Given the description of an element on the screen output the (x, y) to click on. 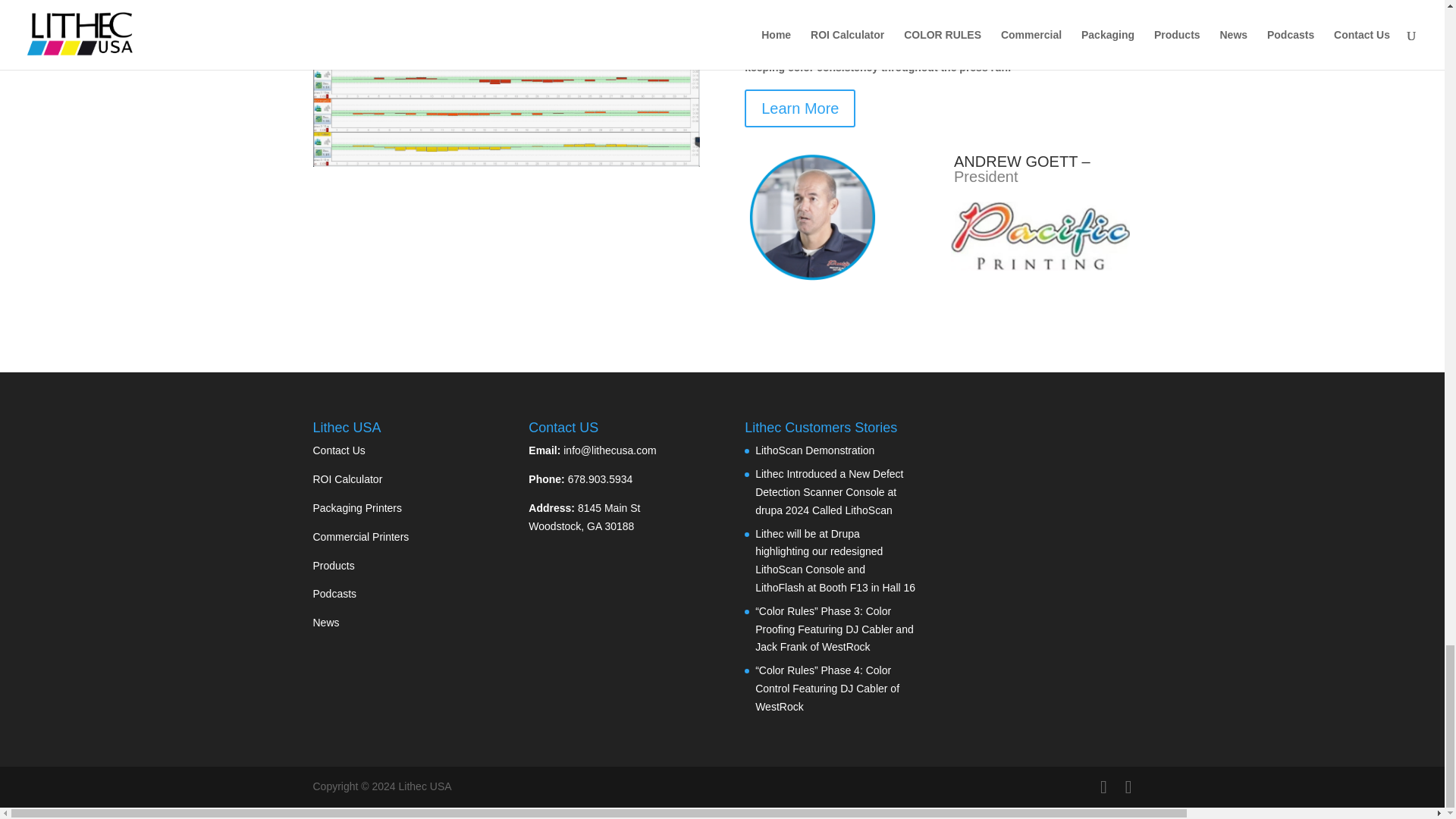
Products (333, 565)
Contact Us (339, 450)
Podcasts (334, 593)
Packaging Printers (357, 508)
News (326, 622)
Commercial Printers (361, 536)
ROI Calculator (347, 479)
LithoScan Demonstration (815, 450)
Learn More (800, 108)
